Given the description of an element on the screen output the (x, y) to click on. 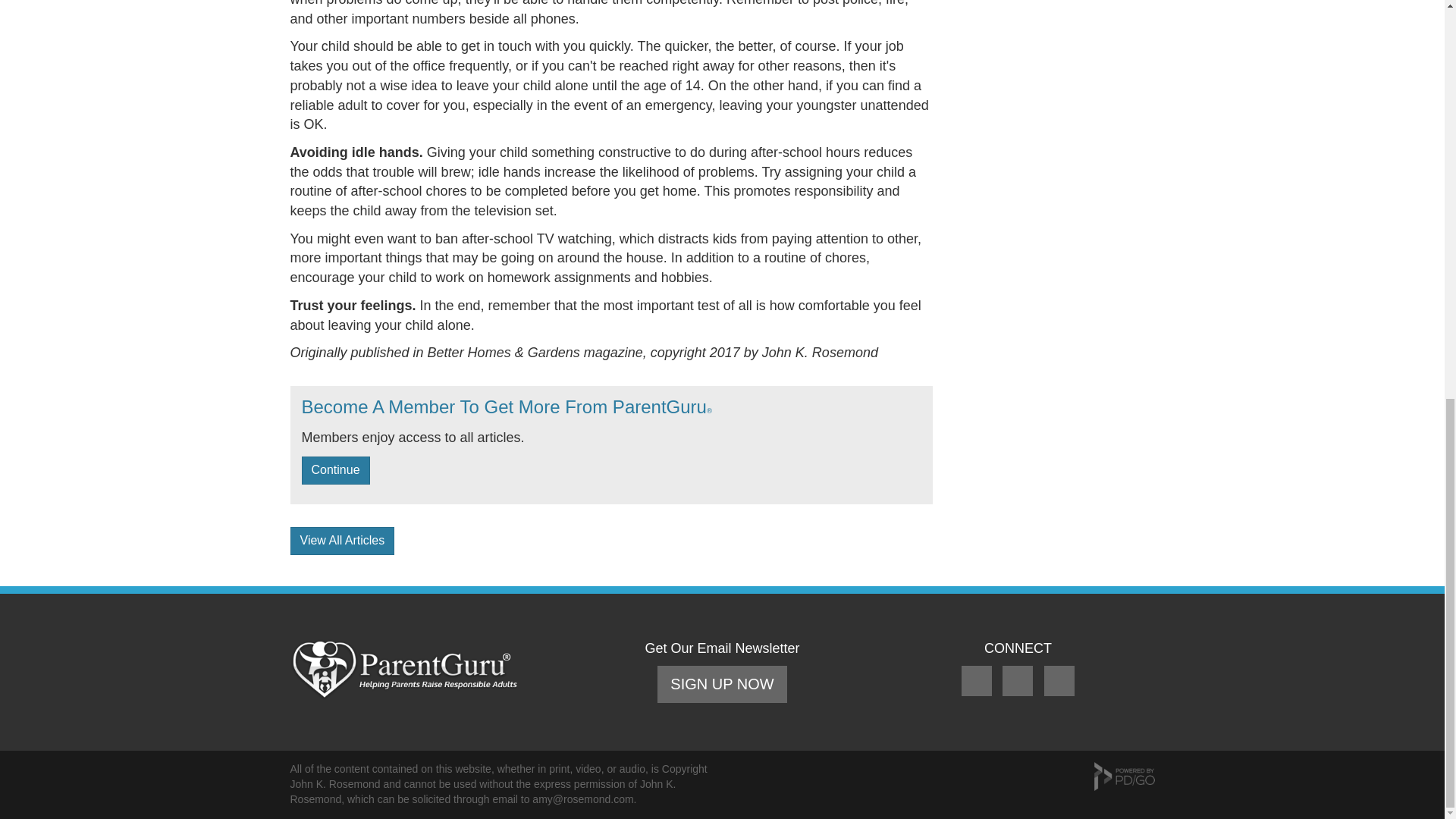
Twitter (1018, 695)
SIGN UP NOW (722, 683)
View All Articles (341, 541)
Continue (335, 470)
Instagram (1059, 695)
Facebook (978, 695)
